Given the description of an element on the screen output the (x, y) to click on. 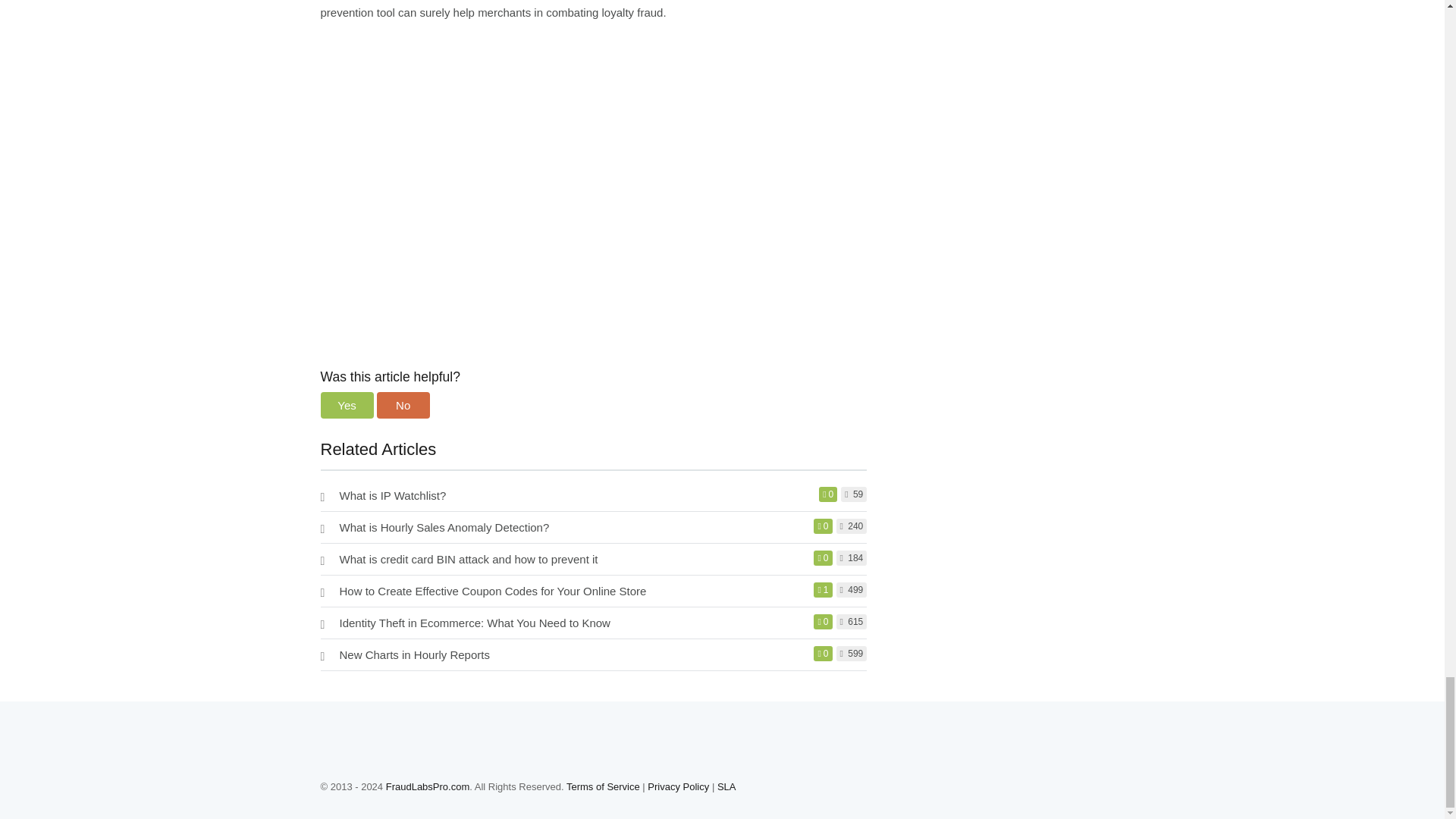
What is Hourly Sales Anomaly Detection? (444, 526)
New Charts in Hourly Reports (414, 654)
What is credit card BIN attack and how to prevent it (468, 558)
How to Create Effective Coupon Codes for Your Online Store (492, 590)
Identity Theft in Ecommerce: What You Need to Know (474, 622)
What is IP Watchlist? (392, 495)
